Given the description of an element on the screen output the (x, y) to click on. 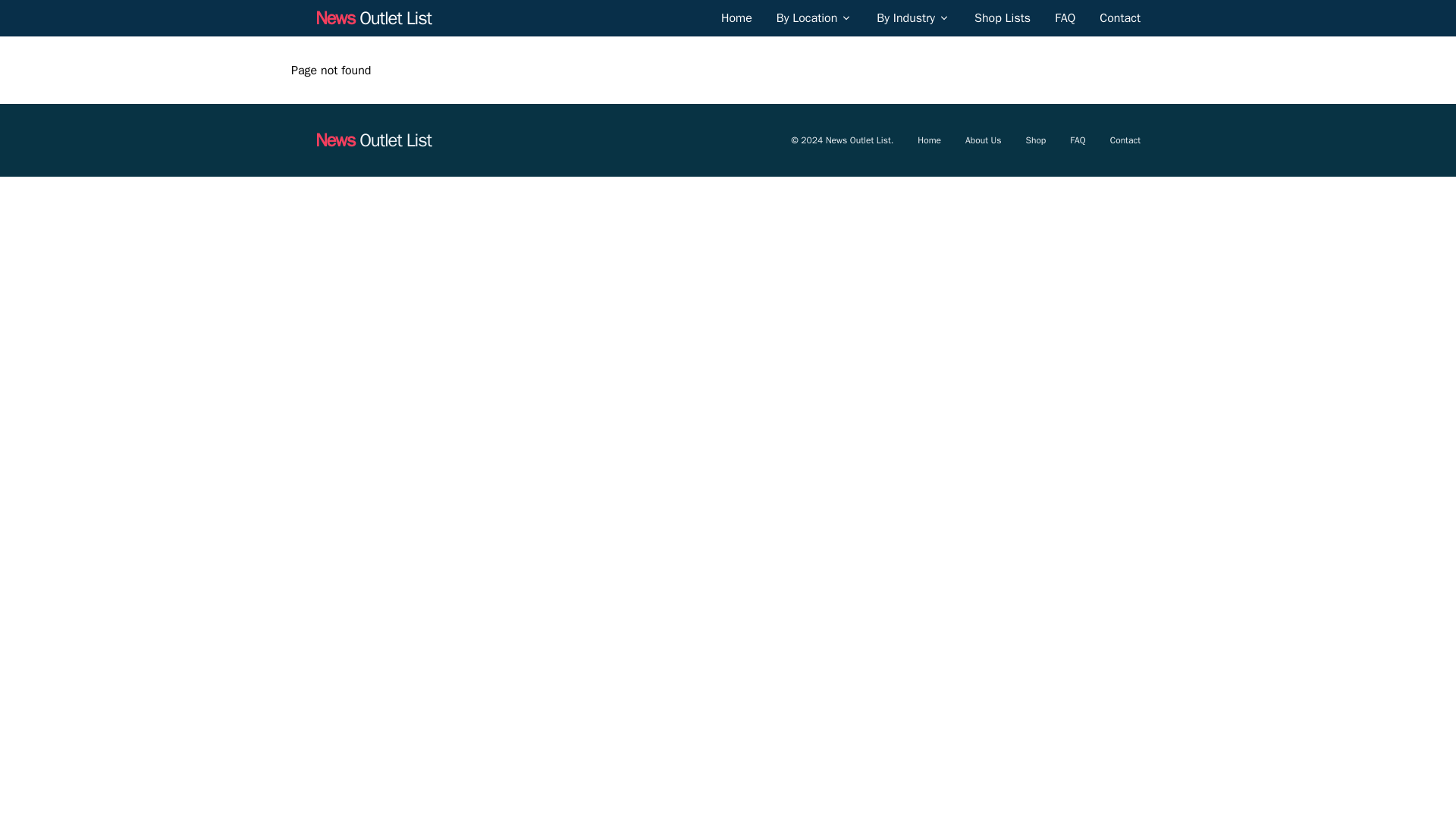
By Industry (905, 18)
FAQ (1064, 18)
Shop Lists (1002, 18)
Home (736, 18)
Contact (1119, 18)
By Location (807, 18)
News Outlet List (372, 17)
By Location (814, 18)
By Industry (913, 18)
